Given the description of an element on the screen output the (x, y) to click on. 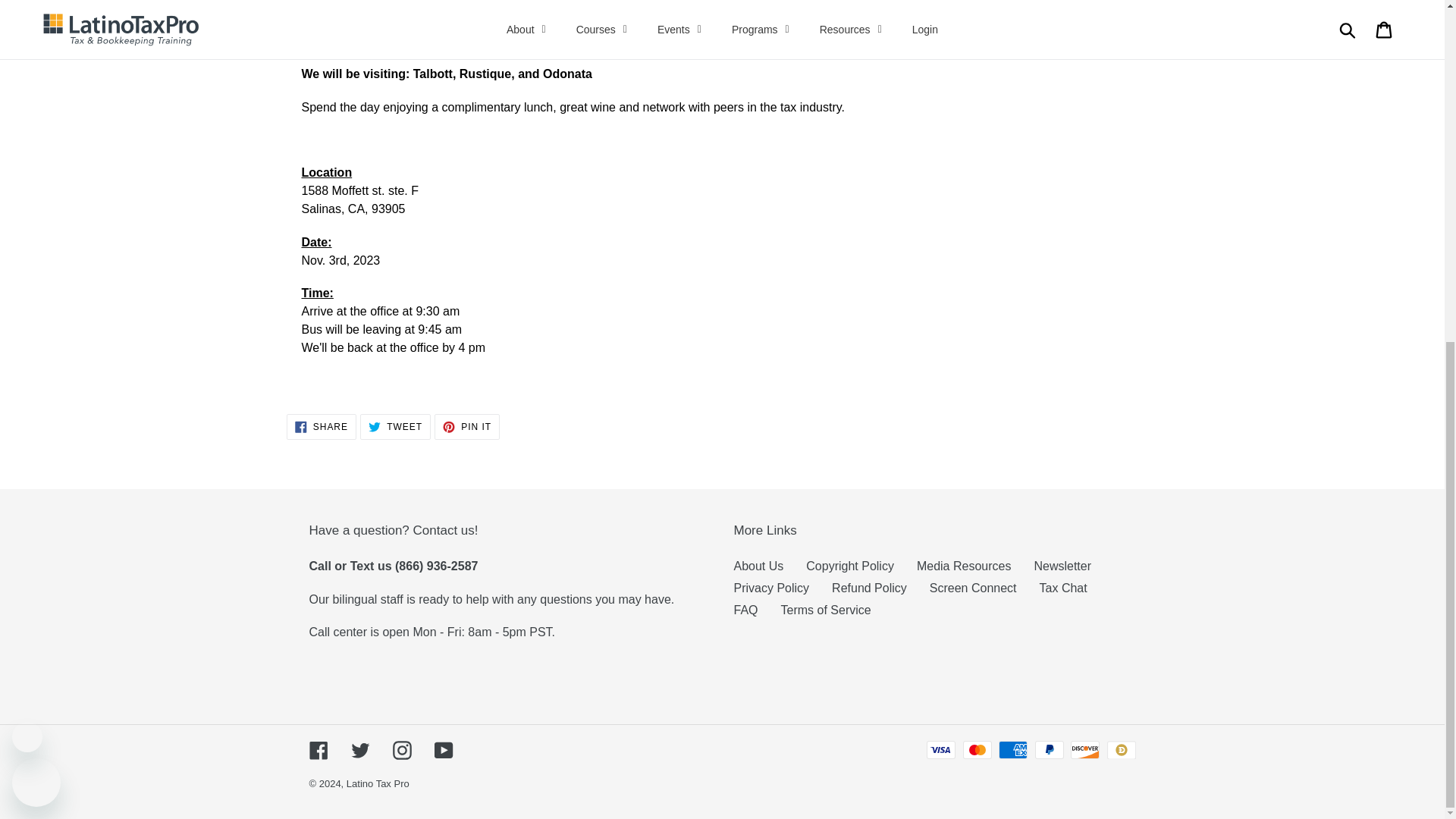
Mastercard (976, 750)
Discover (1084, 750)
Dogecoin (1120, 750)
Visa (940, 750)
American Express (1012, 750)
PayPal (1049, 750)
